Given the description of an element on the screen output the (x, y) to click on. 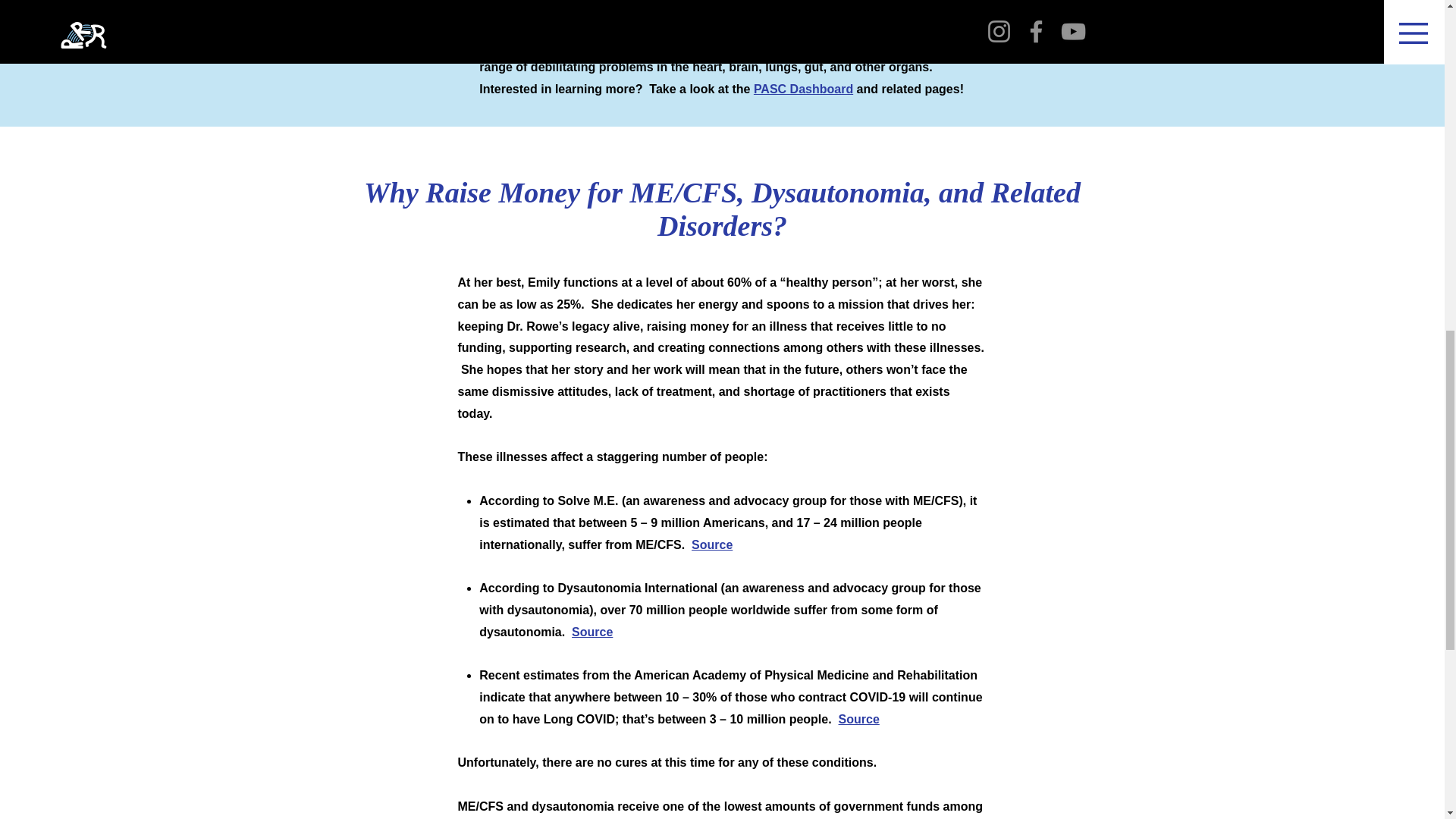
Source (858, 718)
PASC Dashboard (803, 88)
Source (592, 631)
Source (711, 544)
